Given the description of an element on the screen output the (x, y) to click on. 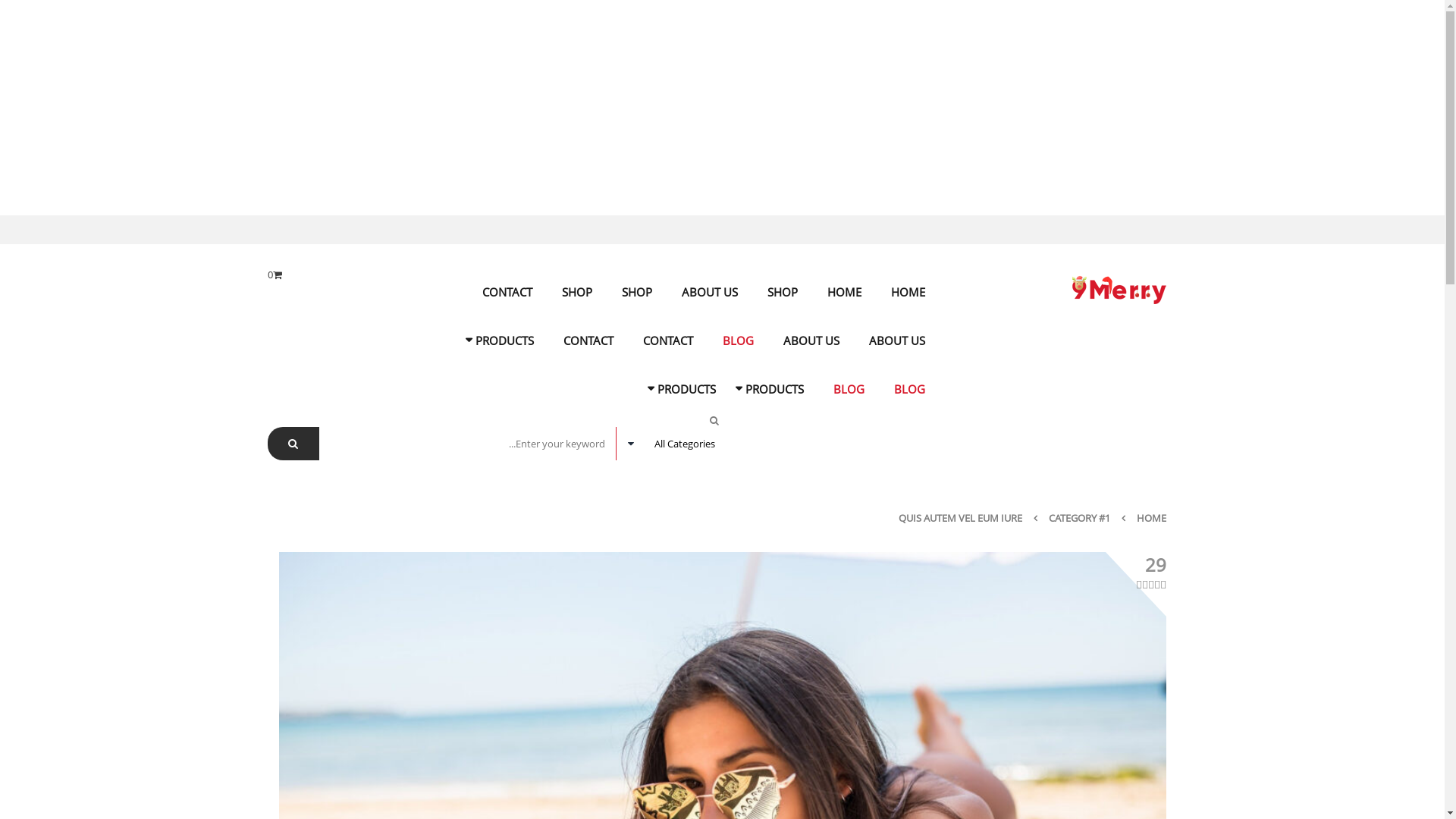
CATEGORY #1 Element type: text (1078, 517)
CONTACT Element type: text (667, 340)
PRODUCTS Element type: text (685, 388)
BLOG Element type: text (737, 340)
SHOP Element type: text (782, 291)
BLOG Element type: text (848, 388)
ABOUT US Element type: text (896, 340)
0 Element type: text (273, 274)
Advertisement Element type: hover (989, 107)
SHOP Element type: text (576, 291)
Search Element type: hover (292, 443)
ABOUT US Element type: text (708, 291)
CONTACT Element type: text (587, 340)
HOME Element type: text (843, 291)
PRODUCTS Element type: text (773, 388)
ABOUT US Element type: text (810, 340)
BLOG Element type: text (908, 388)
SHOP Element type: text (636, 291)
PRODUCTS Element type: text (503, 340)
HOME Element type: text (1150, 517)
CONTACT Element type: text (507, 291)
HOME Element type: text (907, 291)
